Given the description of an element on the screen output the (x, y) to click on. 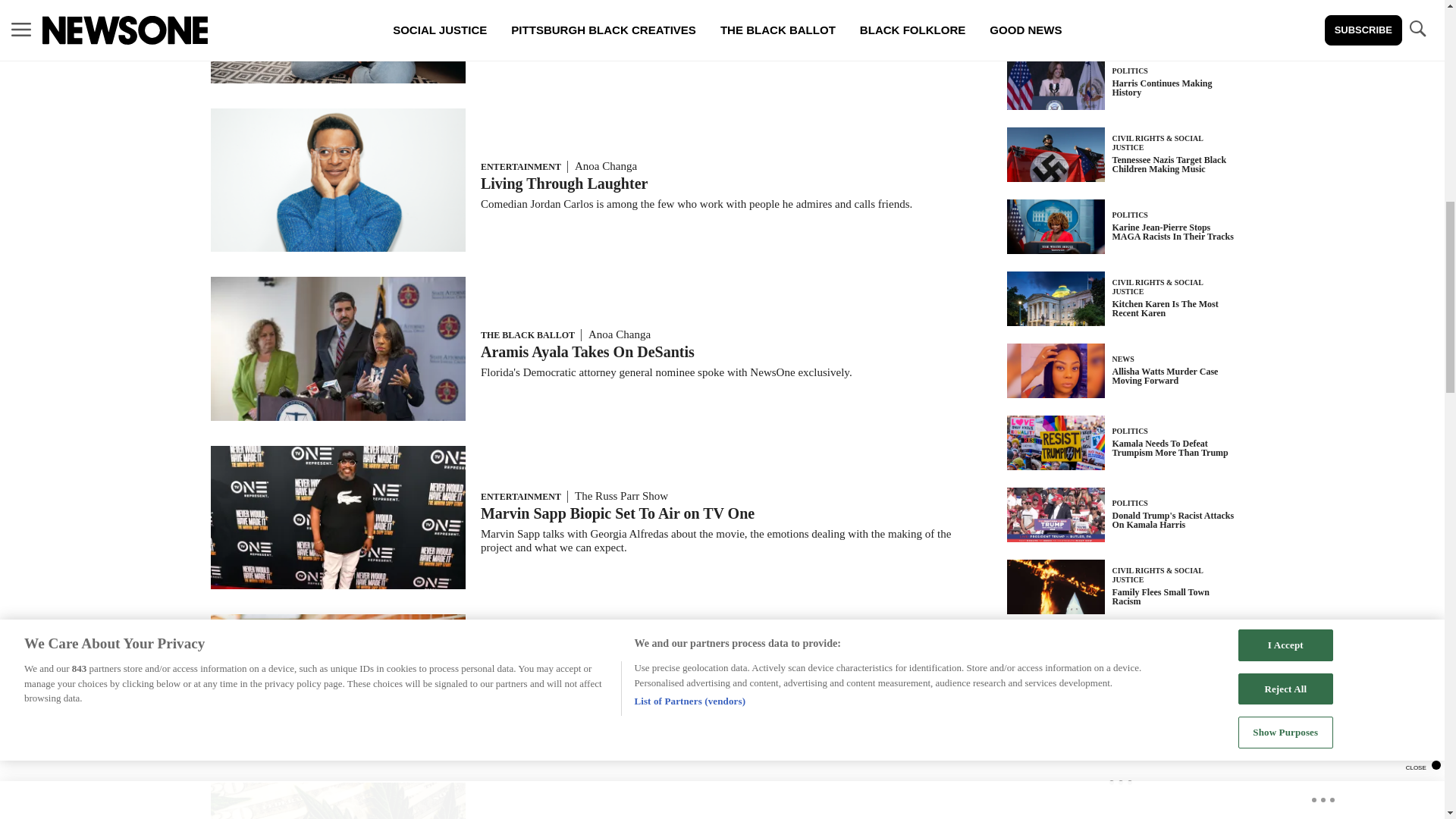
Anoa Changa (568, 671)
ENTERTAINMENT (520, 496)
Black Doula Talks Maternal Health (595, 13)
Anoa Changa (606, 165)
HEALTH (499, 1)
Marvin Sapp Biopic Set To Air on TV One (617, 513)
The Russ Parr Show (621, 495)
THE BLACK BALLOT (527, 335)
Living Through Laughter (563, 183)
Anoa Changa (619, 334)
ENTERTAINMENT (520, 166)
'Civics For The Culture': The History Of Democracy (651, 688)
Aramis Ayala Takes On DeSantis (587, 351)
POLITICS (502, 671)
